Given the description of an element on the screen output the (x, y) to click on. 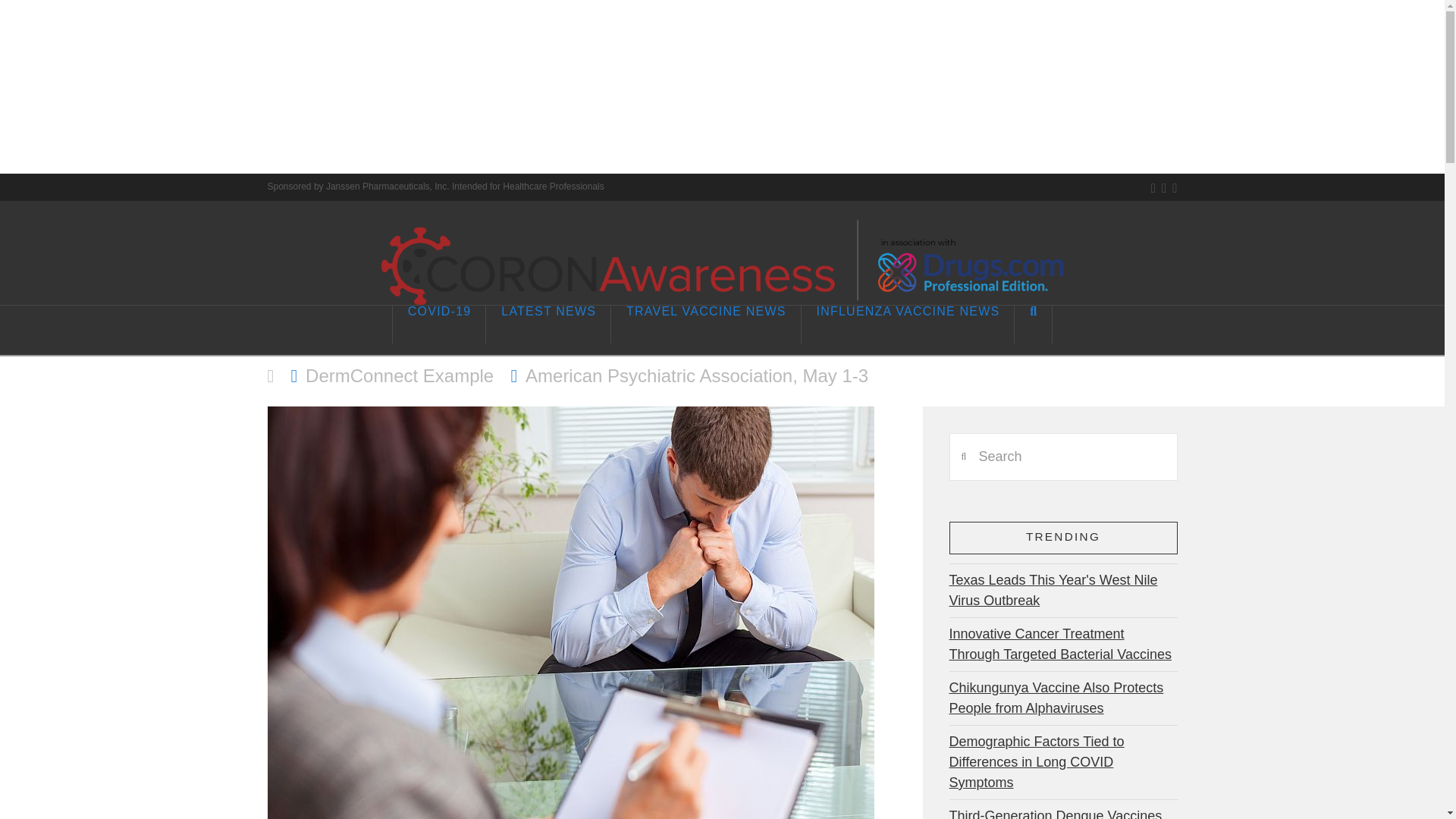
DermConnect Example (399, 376)
COVID-19 (438, 324)
LATEST NEWS (548, 324)
You Are Here (696, 376)
TRAVEL VACCINE NEWS (705, 324)
Texas Leads This Year's West Nile Virus Outbreak (1053, 590)
American Psychiatric Association, May 1-3 (696, 376)
Third-Generation Dengue Vaccines May Become Available Soon (1055, 810)
